Given the description of an element on the screen output the (x, y) to click on. 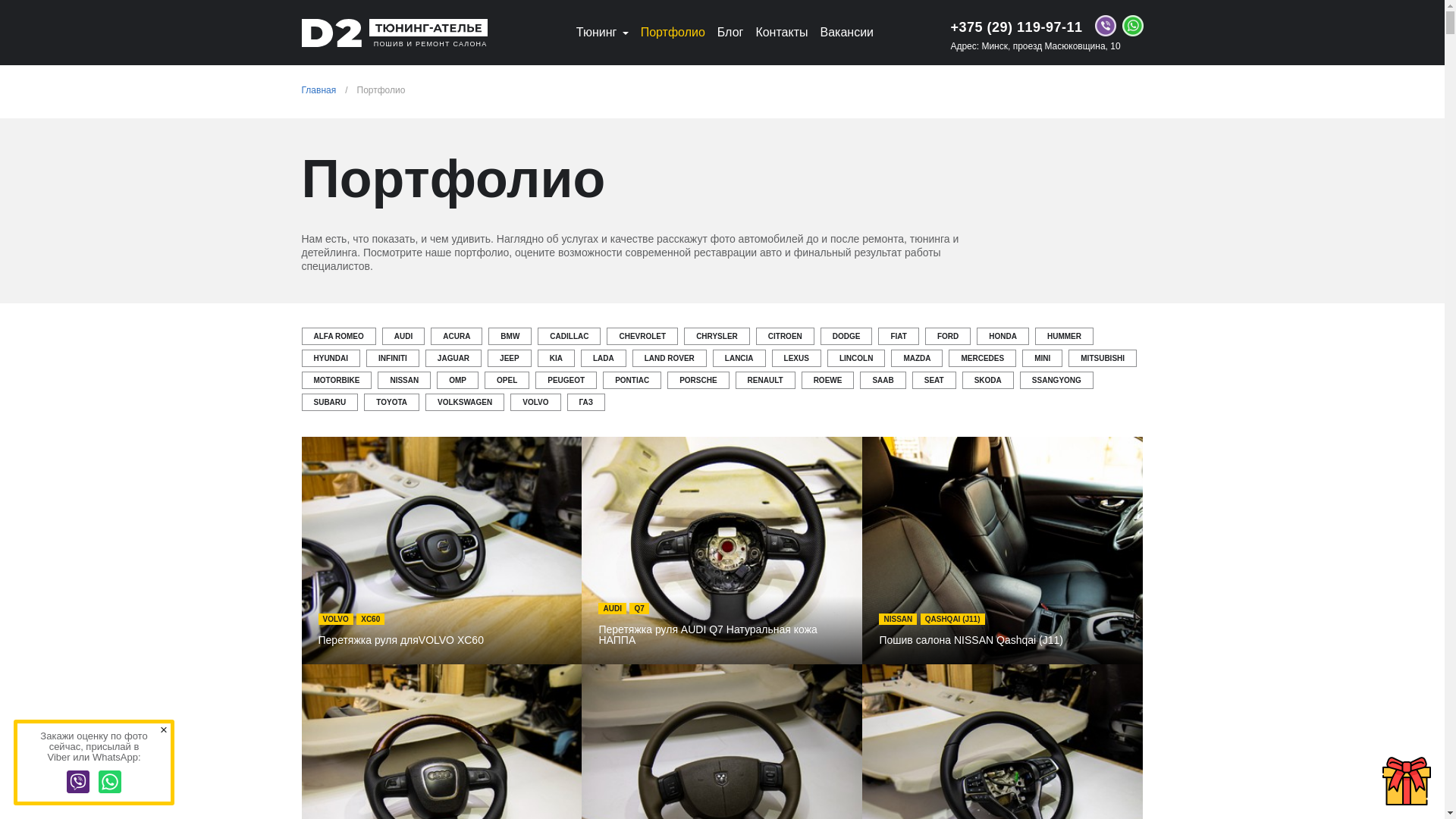
PEUGEOT Element type: text (565, 380)
VOLVO Element type: text (535, 402)
TOYOTA Element type: text (391, 402)
SAAB Element type: text (882, 380)
SSANGYONG Element type: text (1056, 380)
LINCOLN Element type: text (855, 358)
CADILLAC Element type: text (568, 336)
CITROEN Element type: text (785, 336)
JAGUAR Element type: text (453, 358)
MAZDA Element type: text (916, 358)
INFINITI Element type: text (392, 358)
LANCIA Element type: text (738, 358)
LADA Element type: text (603, 358)
OMP Element type: text (457, 380)
FIAT Element type: text (898, 336)
MOTORBIKE Element type: text (336, 380)
MERCEDES Element type: text (982, 358)
PORSCHE Element type: text (697, 380)
CHRYSLER Element type: text (716, 336)
SKODA Element type: text (987, 380)
CHEVROLET Element type: text (641, 336)
AUDI Element type: text (403, 336)
MINI Element type: text (1042, 358)
ALFA ROMEO Element type: text (338, 336)
SUBARU Element type: text (329, 402)
ACURA Element type: text (456, 336)
NISSAN Element type: text (403, 380)
MITSUBISHI Element type: text (1102, 358)
+375 (29) 119-97-11 Element type: text (1016, 26)
VOLKSWAGEN Element type: text (464, 402)
PONTIAC Element type: text (631, 380)
HUMMER Element type: text (1064, 336)
HONDA Element type: text (1002, 336)
OPEL Element type: text (506, 380)
LAND ROVER Element type: text (669, 358)
HYUNDAI Element type: text (330, 358)
JEEP Element type: text (509, 358)
KIA Element type: text (555, 358)
DODGE Element type: text (846, 336)
SEAT Element type: text (934, 380)
RENAULT Element type: text (765, 380)
ROEWE Element type: text (827, 380)
FORD Element type: text (947, 336)
LEXUS Element type: text (796, 358)
BMW Element type: text (509, 336)
